Given the description of an element on the screen output the (x, y) to click on. 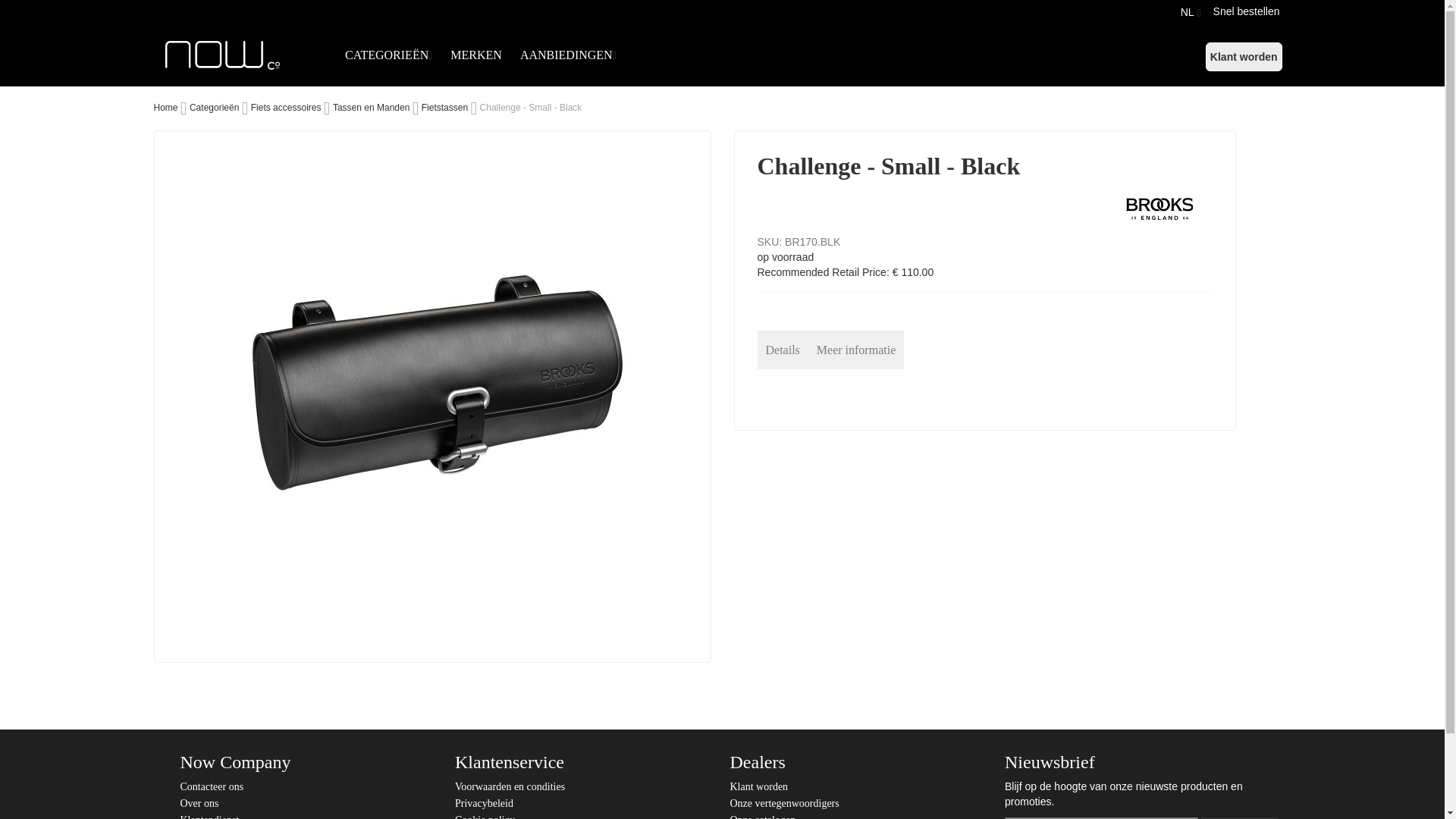
Now Company Logo (241, 54)
Taal (1188, 11)
Inschrijven (1240, 818)
Ga naar homepagina (165, 107)
Snel bestellen (1245, 10)
